Given the description of an element on the screen output the (x, y) to click on. 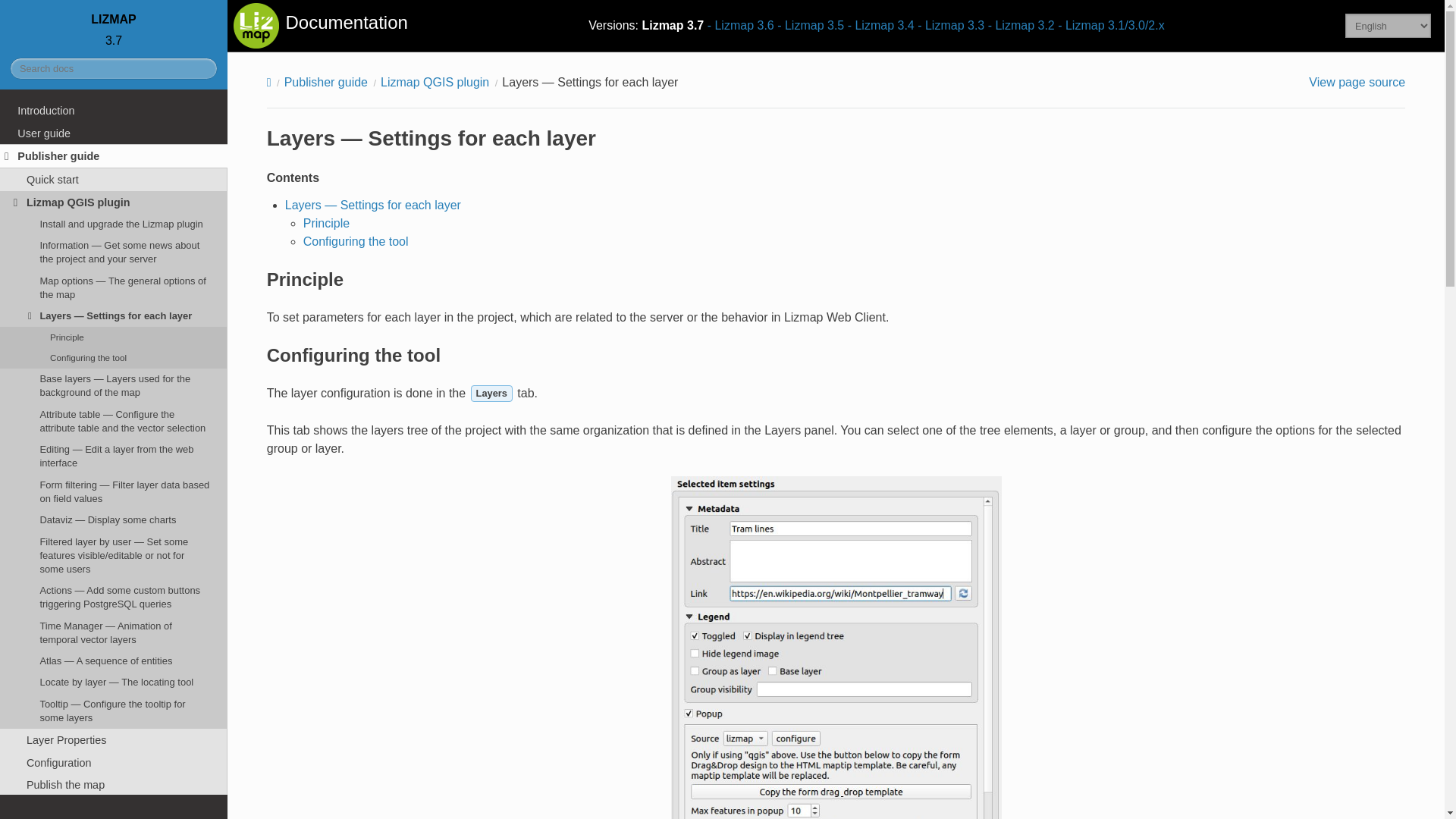
Lizmap 3.3 (950, 24)
Lizmap 3.5 (810, 24)
Lizmap 3.2 (1021, 24)
Quick start (113, 179)
LIZMAP (113, 19)
Lizmap QGIS plugin (113, 201)
Layer Properties (113, 739)
Documentation (319, 25)
Lizmap 3.4 (880, 24)
Lizmap 3.6 (740, 24)
Configuring the tool (113, 358)
Lizmap 3.6 (740, 24)
Lizmap 3.4 (880, 24)
Publisher guide (113, 156)
Publish the map (113, 784)
